Given the description of an element on the screen output the (x, y) to click on. 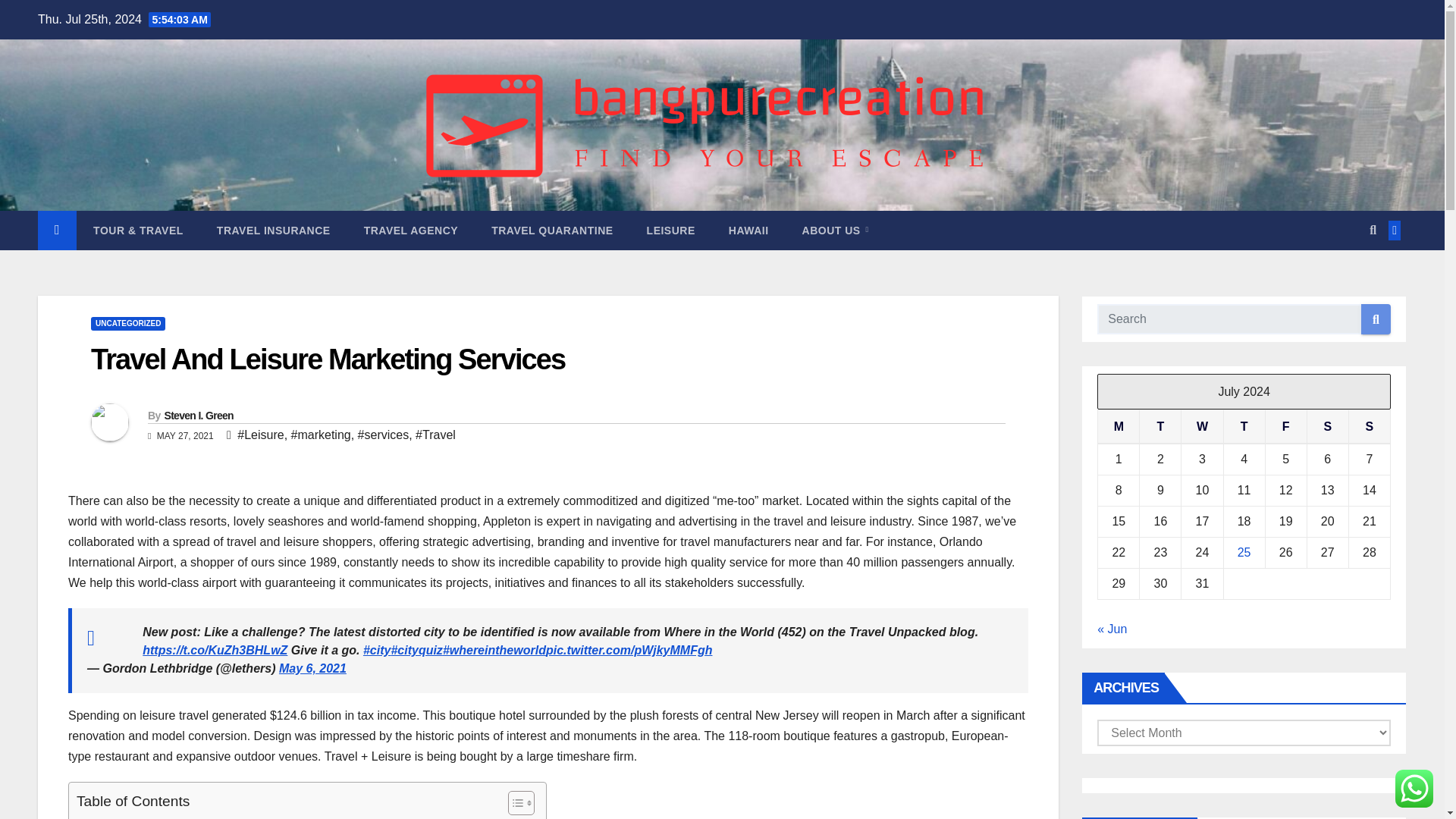
Hawaii (748, 230)
TRAVEL AGENCY (410, 230)
Steven I. Green (197, 415)
ABOUT US (835, 230)
TRAVEL INSURANCE (273, 230)
HAWAII (748, 230)
TRAVEL QUARANTINE (551, 230)
Travelandleisure Com Customer Support (187, 817)
May 6, 2021 (312, 667)
Travel Agency (410, 230)
About Us (835, 230)
Travelandleisure Com Customer Support (187, 817)
Travel Quarantine (551, 230)
Travel And Leisure Marketing Services (327, 359)
Permalink to: Travel And Leisure Marketing Services (327, 359)
